Given the description of an element on the screen output the (x, y) to click on. 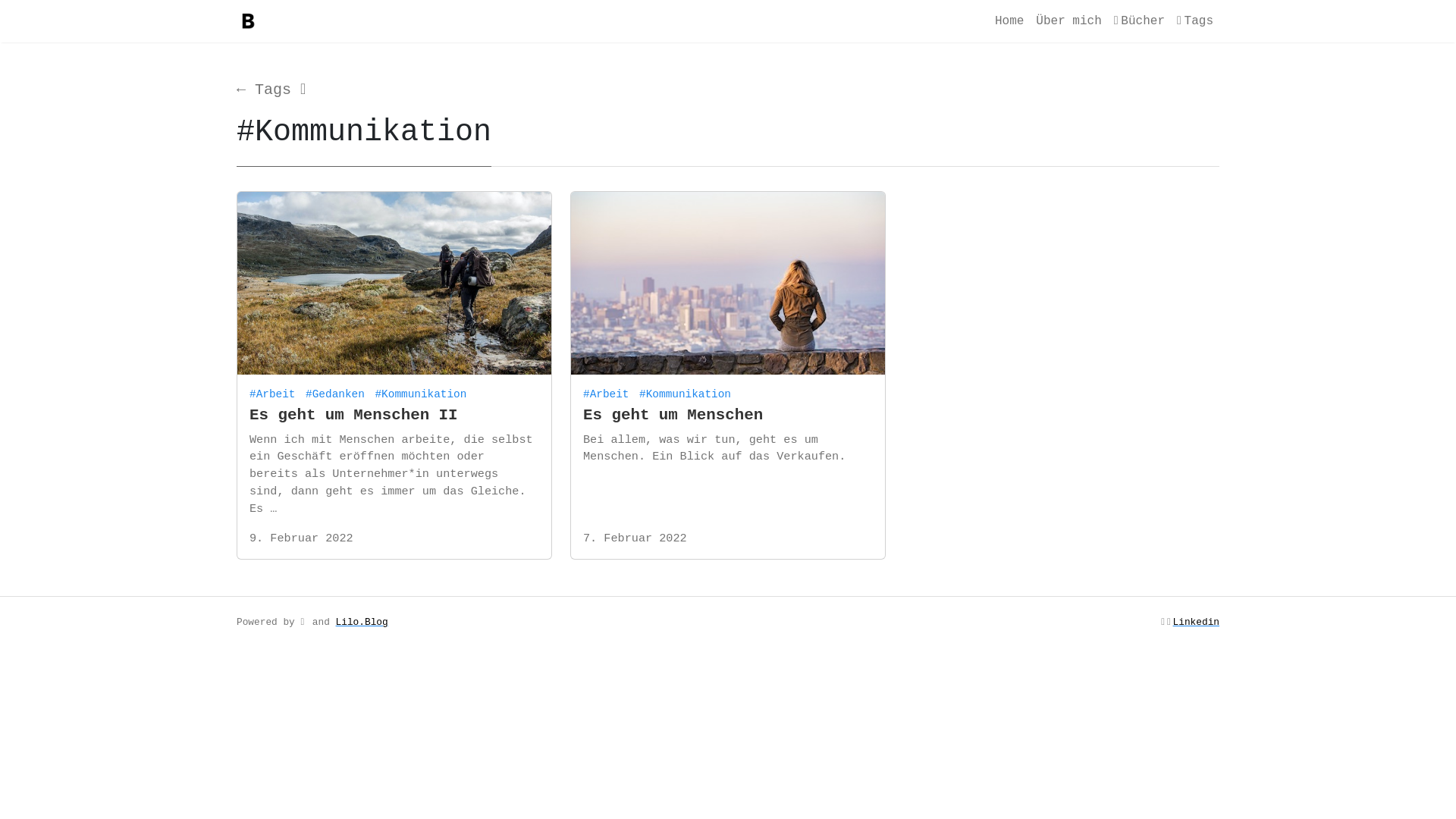
#Arbeit Element type: text (607, 390)
Home Element type: text (1008, 21)
#Kommunikation Element type: text (686, 390)
Es geht um Menschen II Element type: text (353, 414)
Lilo.Blog Element type: text (361, 621)
#Gedanken Element type: text (336, 390)
Es geht um Menschen Element type: text (672, 414)
#Arbeit Element type: text (273, 390)
Linkedin Element type: text (1196, 621)
#Kommunikation Element type: text (422, 390)
